Given the description of an element on the screen output the (x, y) to click on. 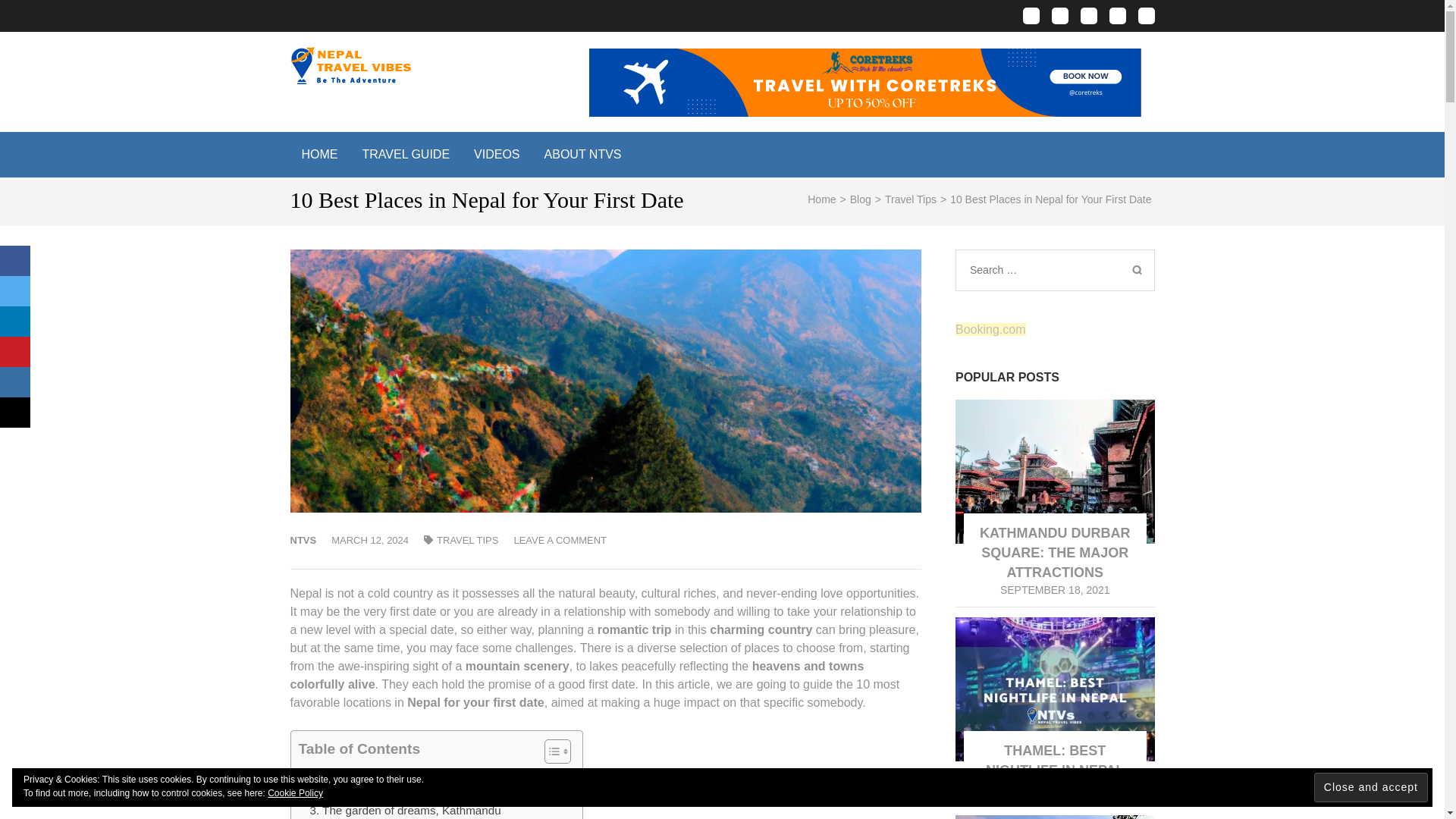
facebook (1030, 15)
ABOUT NTVS (582, 154)
VIDEOS (497, 154)
twitter (1088, 15)
Phewa Lake, Pokhara (365, 791)
TRAVEL GUIDE (405, 154)
HOME (319, 154)
Search (1136, 270)
NEPAL TRAVEL VIBES (580, 84)
Boudhanath Stupa (356, 773)
